Given the description of an element on the screen output the (x, y) to click on. 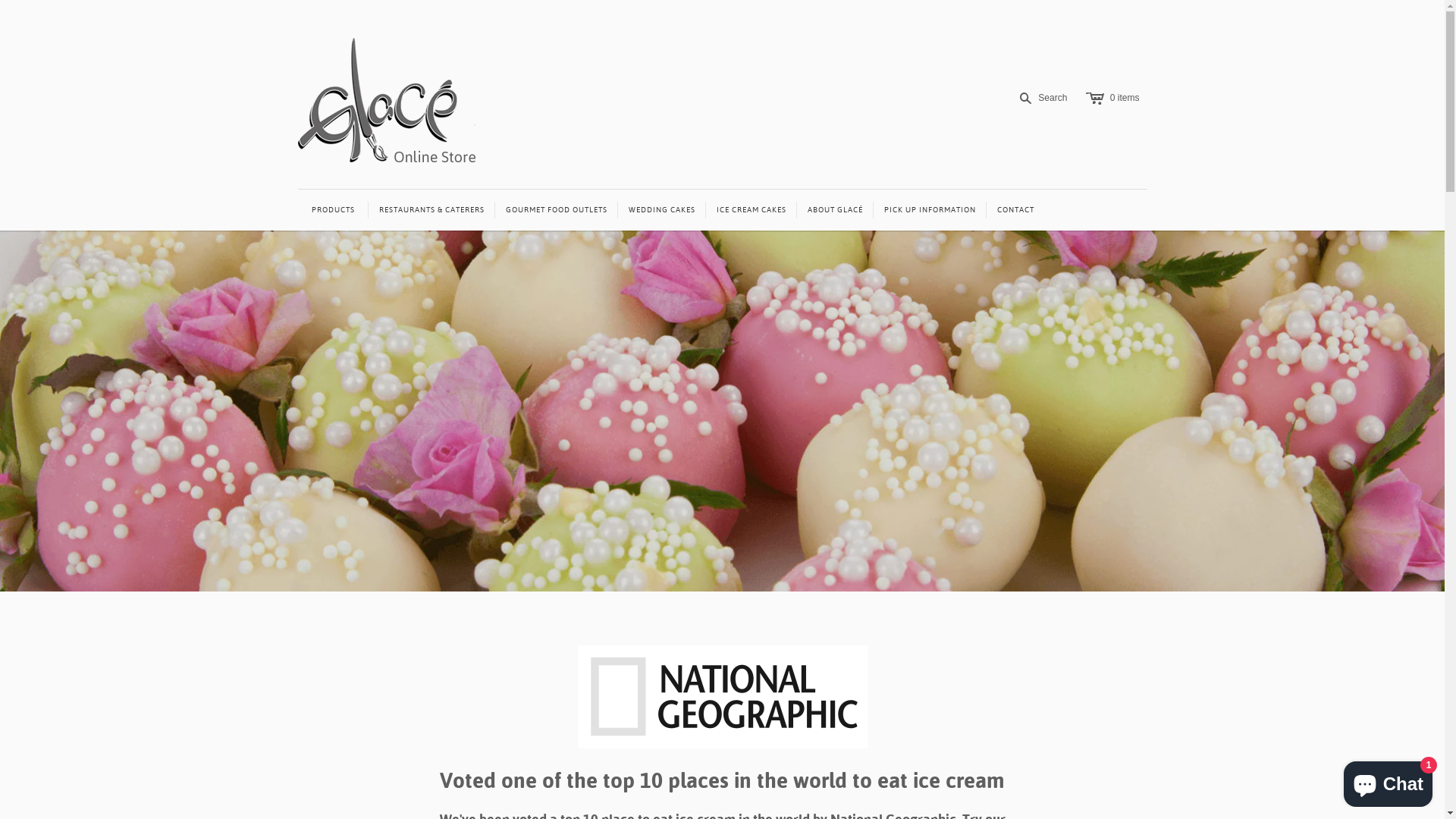
CONTACT Element type: text (1014, 209)
WEDDING CAKES Element type: text (661, 209)
PICK UP INFORMATION Element type: text (929, 209)
GOURMET FOOD OUTLETS Element type: text (555, 209)
s
Search Element type: text (1042, 97)
Shopify online store chat Element type: hover (1388, 780)
PRODUCTS Element type: text (332, 209)
RESTAURANTS & CATERERS Element type: text (431, 209)
ICE CREAM CAKES Element type: text (750, 209)
